Given the description of an element on the screen output the (x, y) to click on. 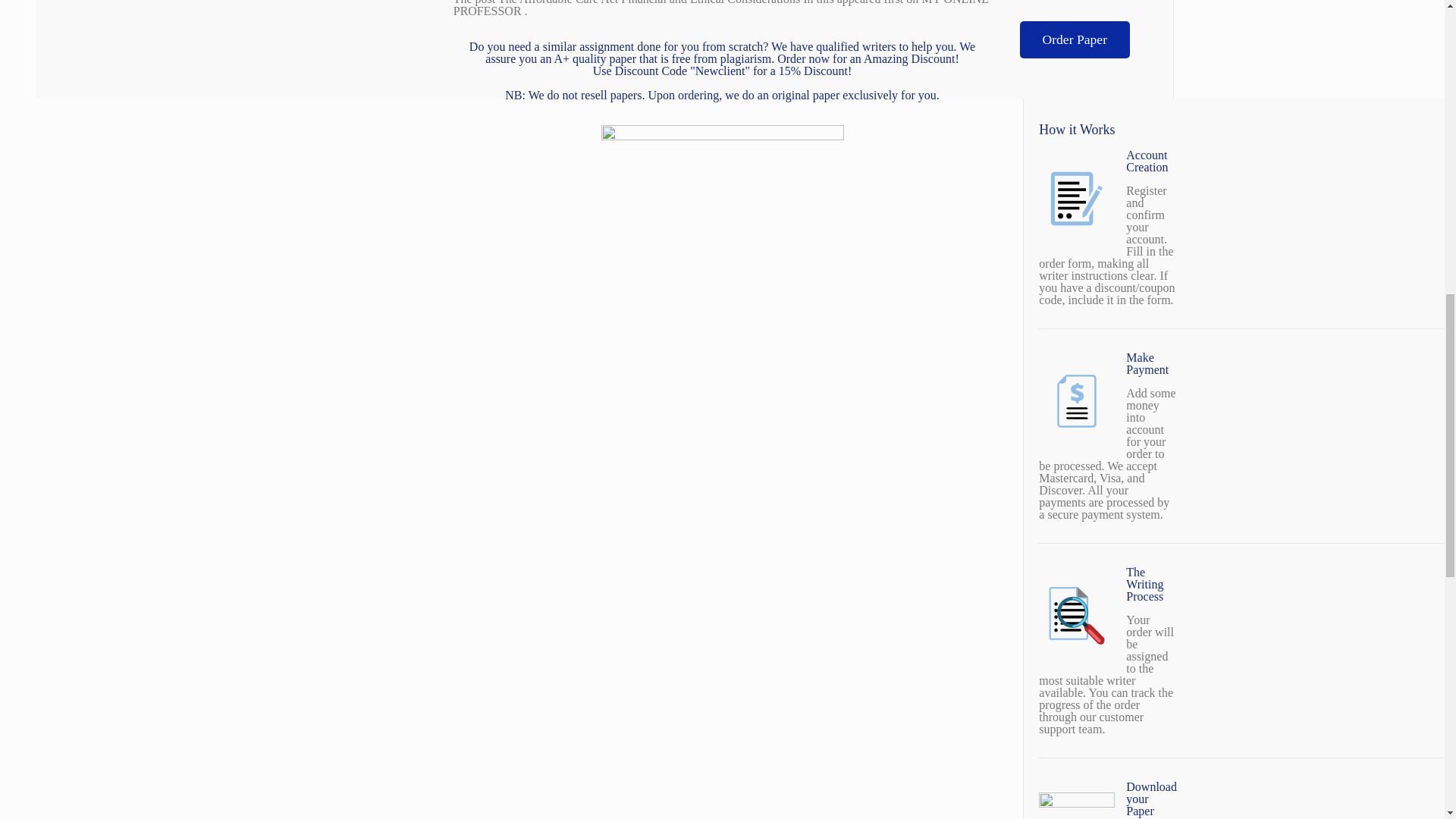
Order Paper (1074, 39)
Order Paper (1074, 39)
